Given the description of an element on the screen output the (x, y) to click on. 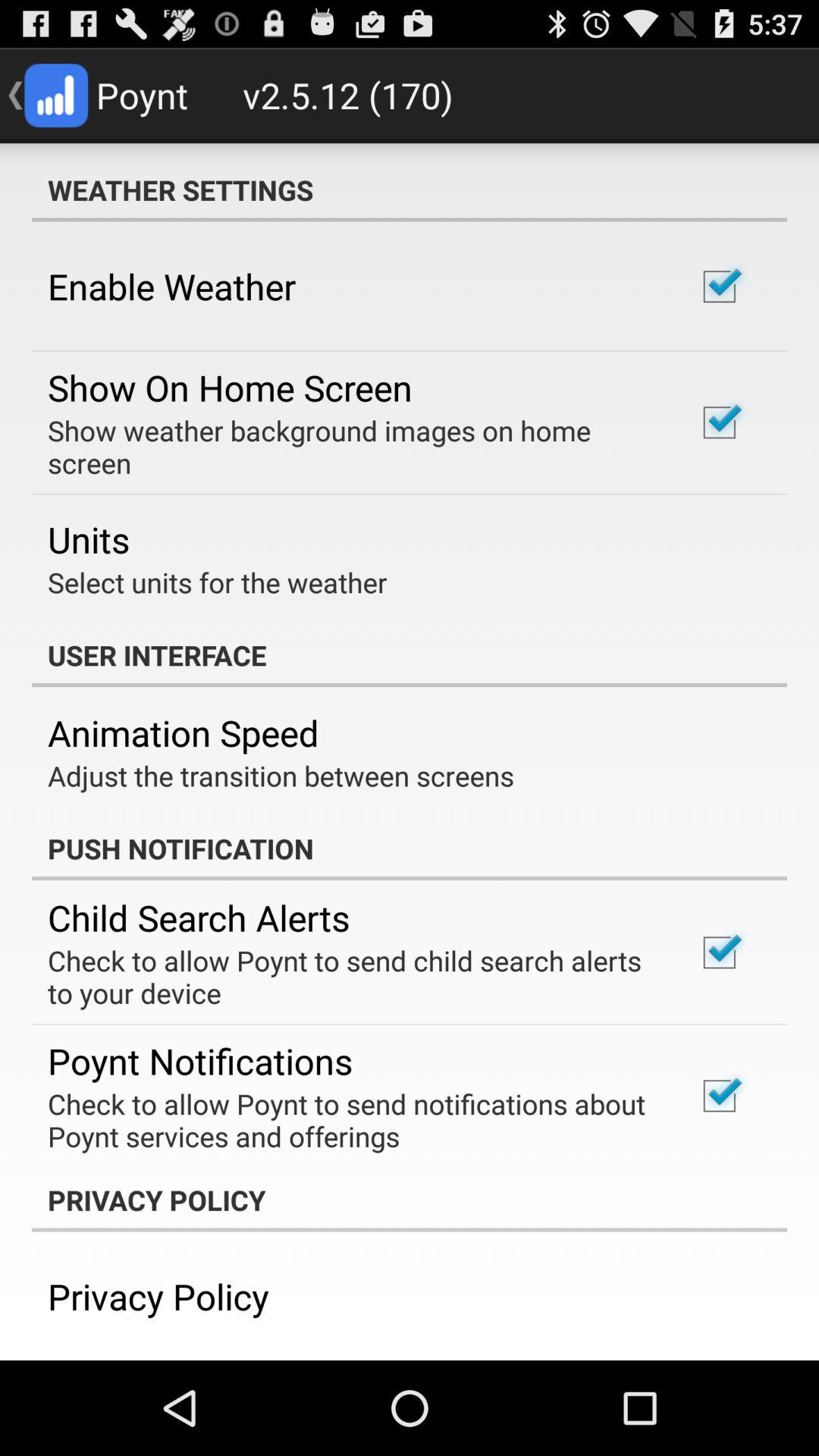
jump until the select units for (217, 582)
